Given the description of an element on the screen output the (x, y) to click on. 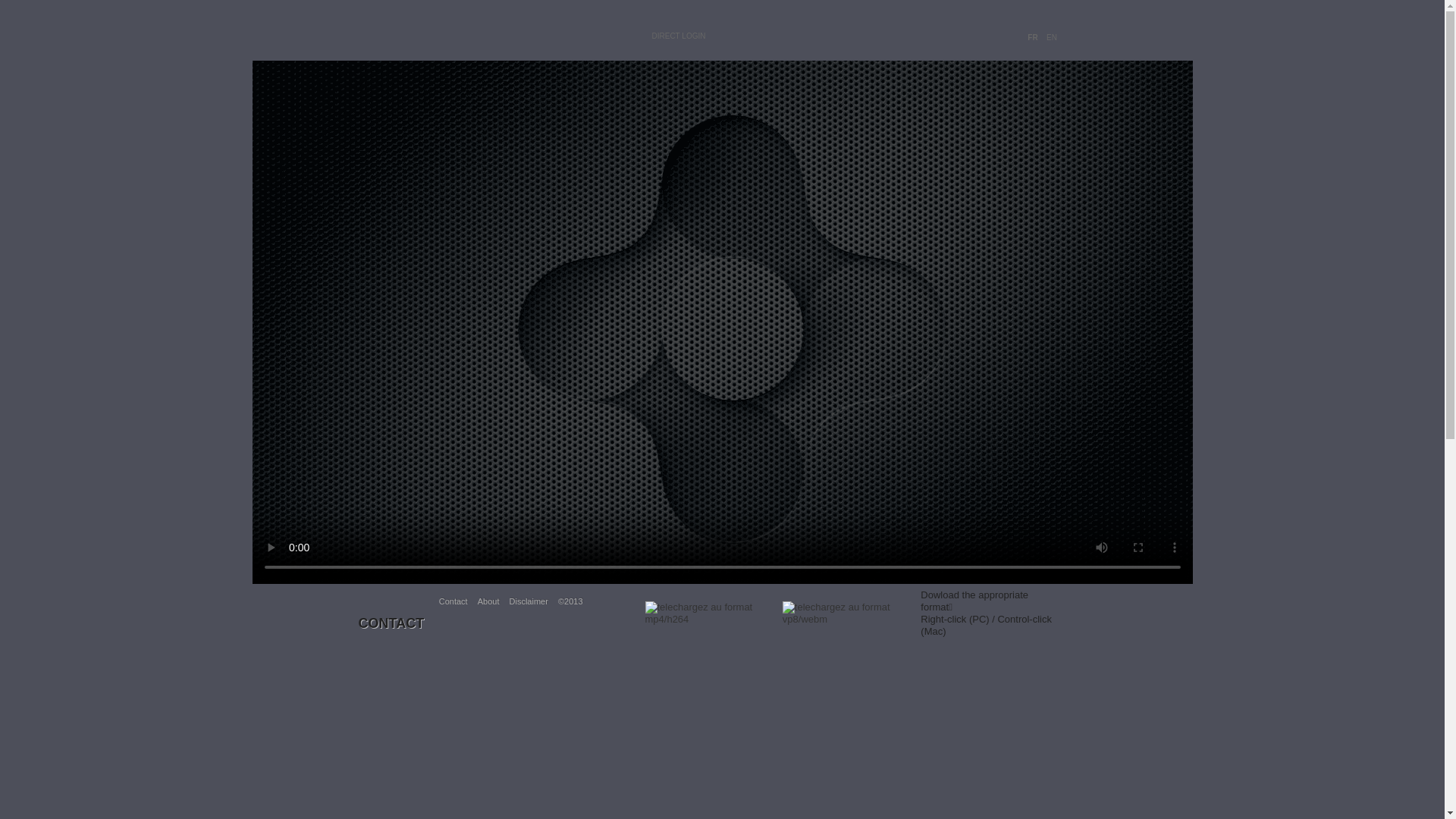
About Element type: text (488, 600)
Disclaimer Element type: text (528, 600)
EN Element type: text (1050, 37)
ad-manager.ch Element type: text (463, 22)
FR Element type: text (1032, 37)
Contact Element type: text (453, 600)
DIRECT LOGIN Element type: text (678, 35)
